Given the description of an element on the screen output the (x, y) to click on. 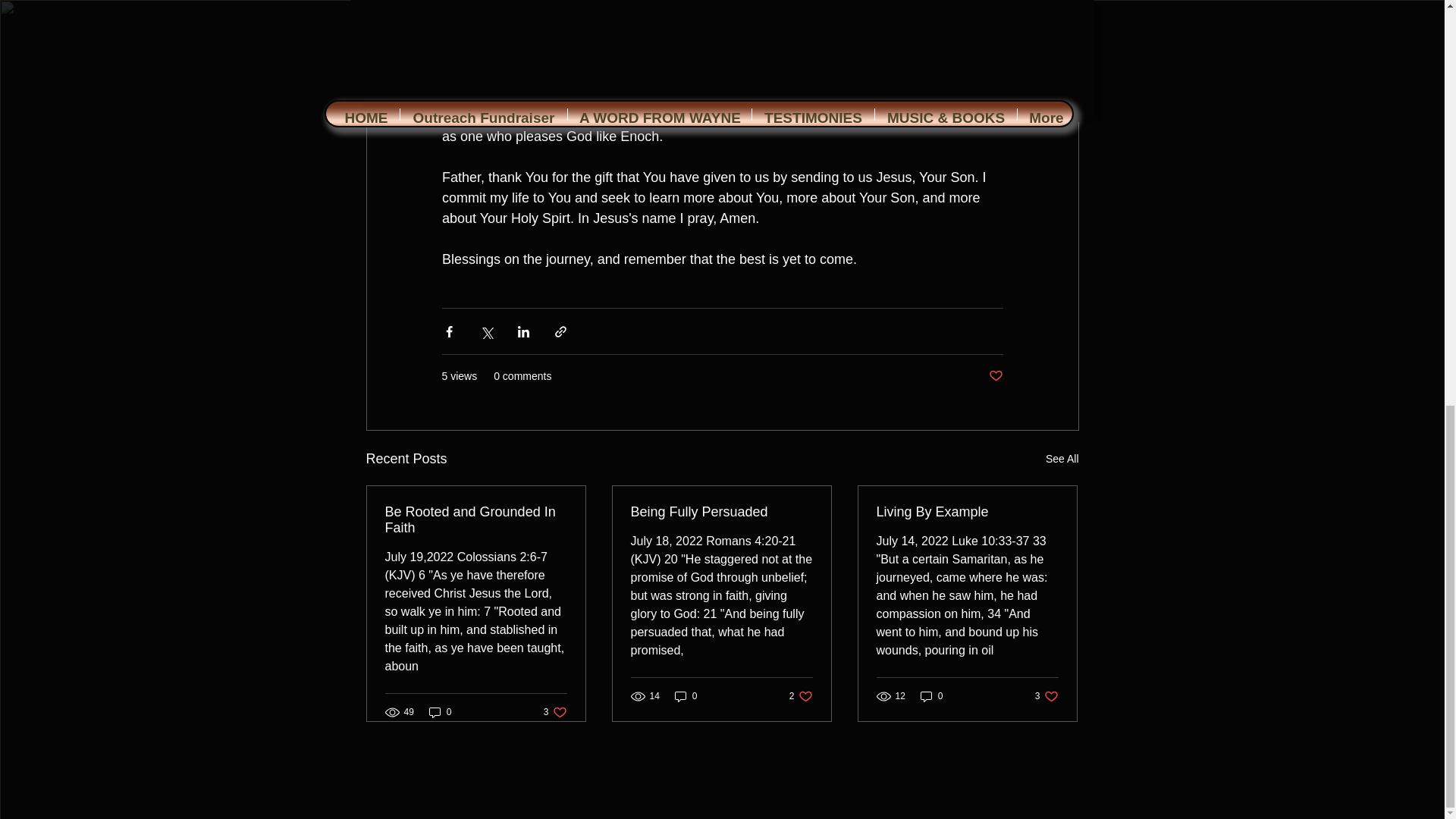
Post not marked as liked (995, 376)
0 (1046, 695)
0 (685, 695)
Be Rooted and Grounded In Faith (931, 695)
See All (476, 520)
0 (1061, 458)
Being Fully Persuaded (440, 712)
Living By Example (721, 512)
